Given the description of an element on the screen output the (x, y) to click on. 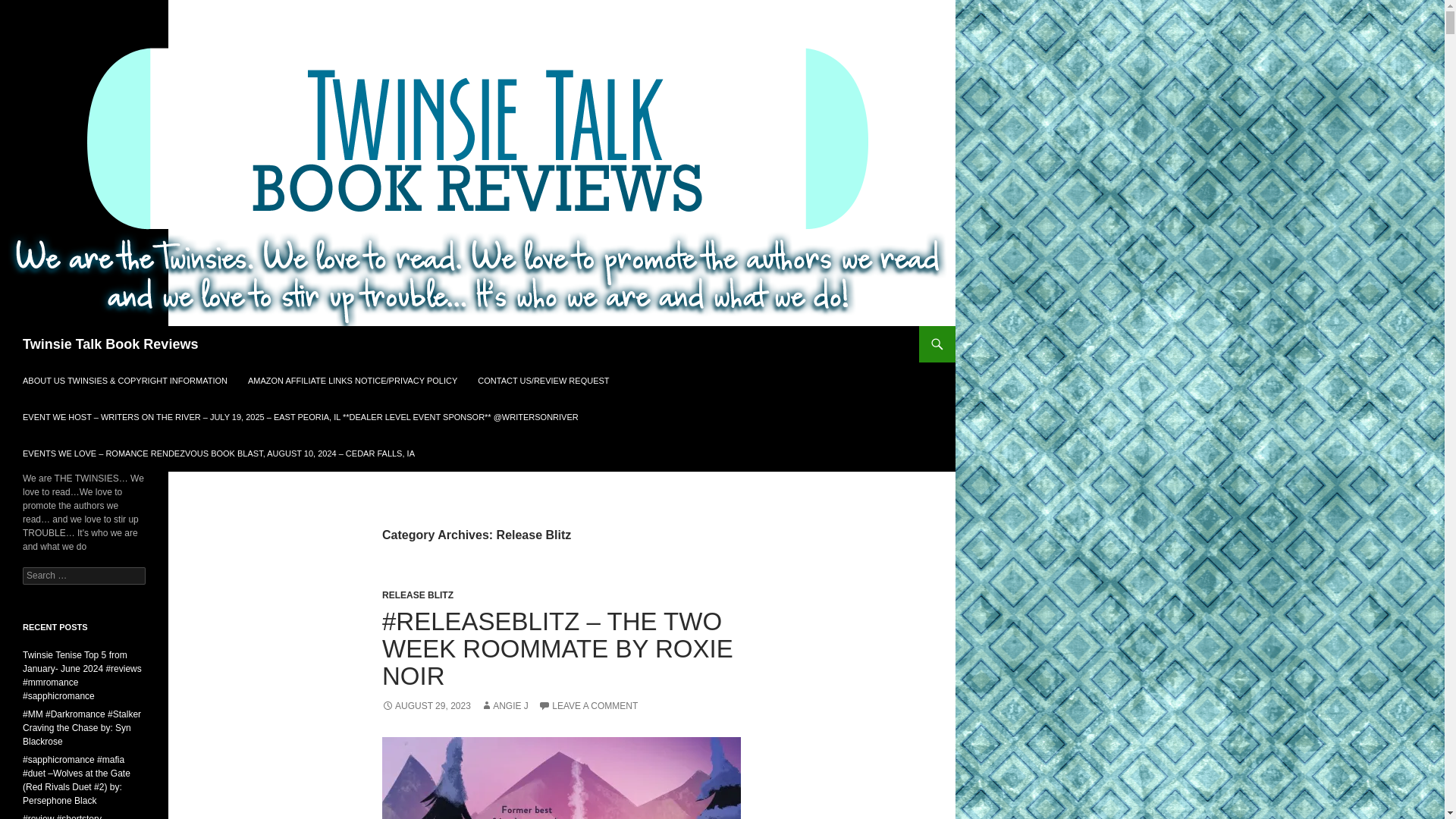
ANGIE J (504, 706)
LEAVE A COMMENT (587, 706)
RELEASE BLITZ (416, 594)
AUGUST 29, 2023 (425, 706)
Twinsie Talk Book Reviews (110, 343)
